Given the description of an element on the screen output the (x, y) to click on. 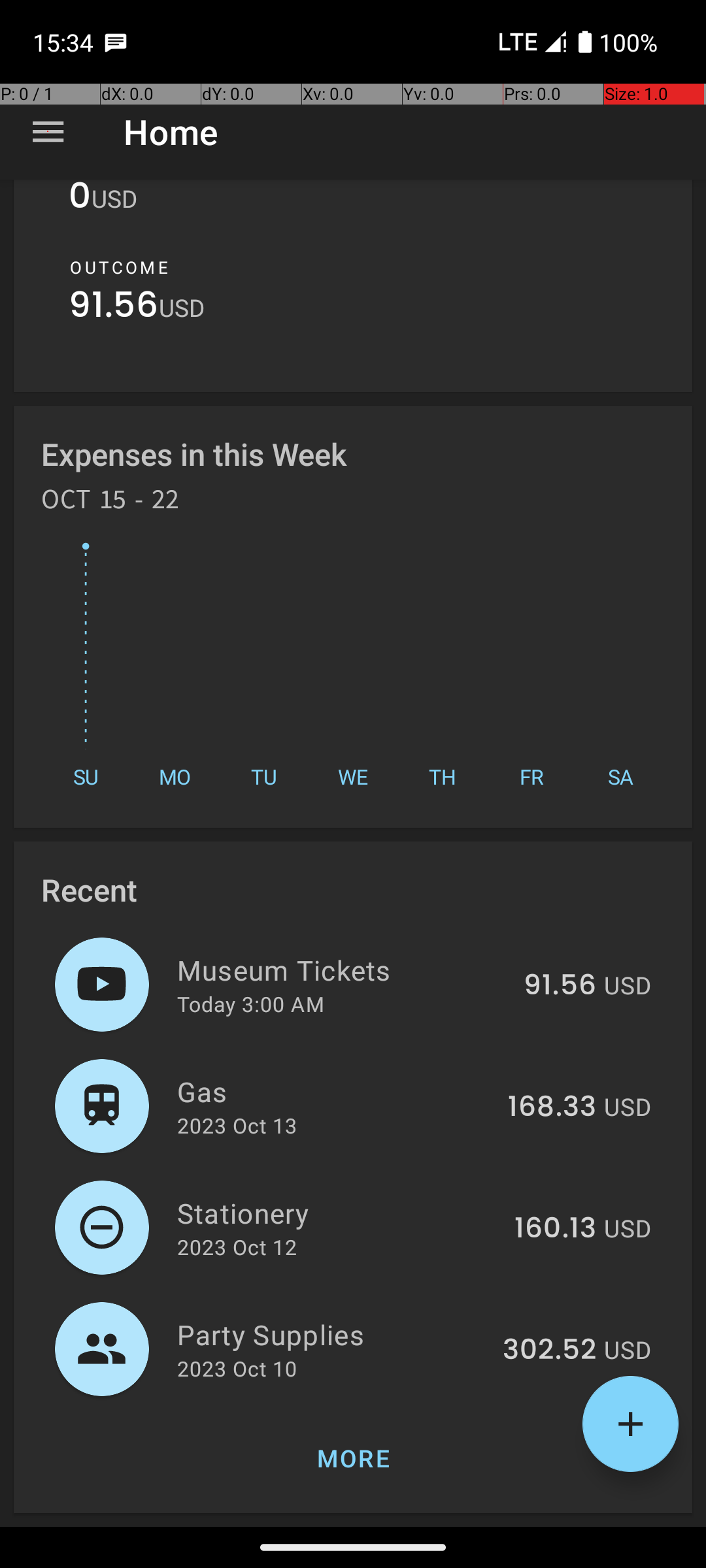
91.56 Element type: android.widget.TextView (113, 307)
Museum Tickets Element type: android.widget.TextView (342, 969)
Today 3:00 AM Element type: android.widget.TextView (250, 1003)
Gas Element type: android.widget.TextView (334, 1091)
168.33 Element type: android.widget.TextView (551, 1106)
Stationery Element type: android.widget.TextView (338, 1212)
160.13 Element type: android.widget.TextView (554, 1228)
Party Supplies Element type: android.widget.TextView (332, 1334)
302.52 Element type: android.widget.TextView (549, 1350)
